Given the description of an element on the screen output the (x, y) to click on. 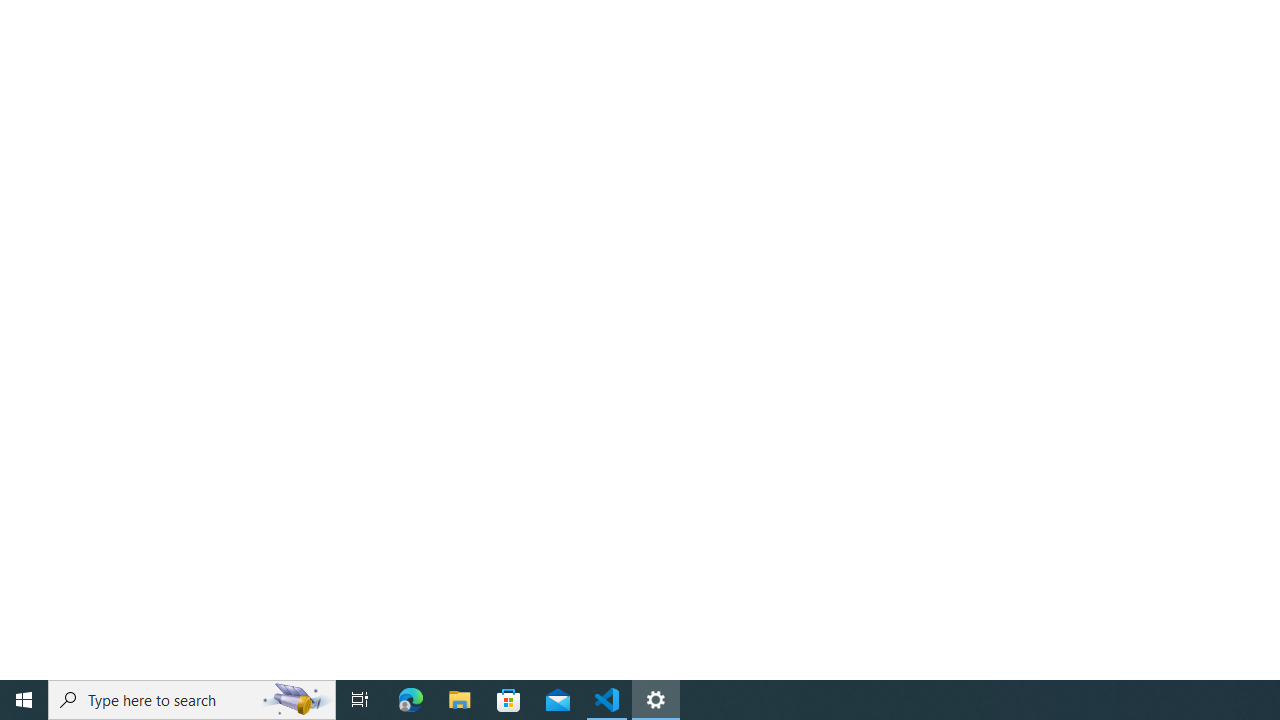
Visual Studio Code - 1 running window (607, 699)
Type here to search (191, 699)
Task View (359, 699)
File Explorer (460, 699)
Settings - 1 running window (656, 699)
Microsoft Edge (411, 699)
Search highlights icon opens search home window (295, 699)
Microsoft Store (509, 699)
Start (24, 699)
